Given the description of an element on the screen output the (x, y) to click on. 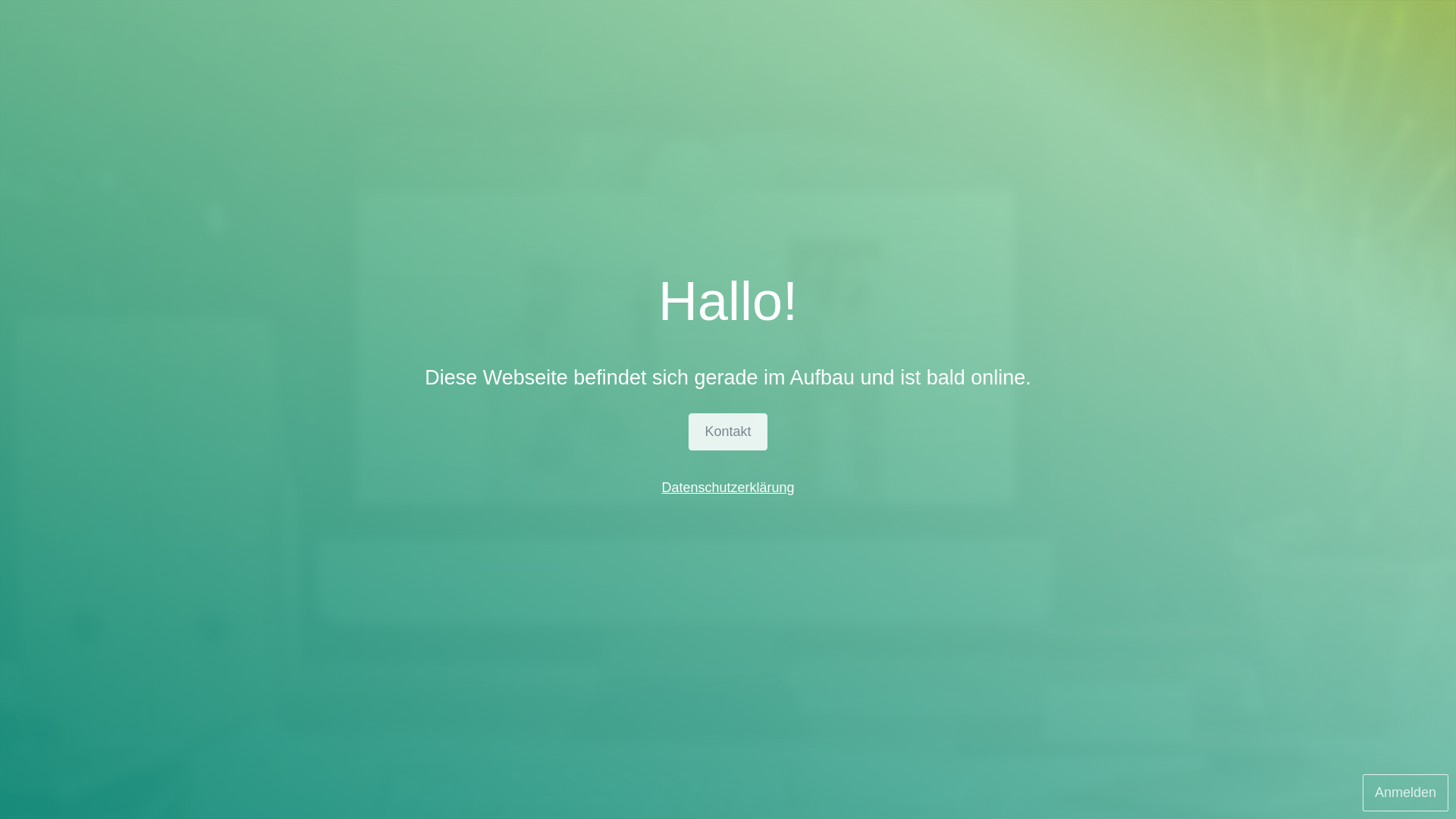
Kontakt Element type: text (727, 431)
Anmelden Element type: text (1405, 792)
